Given the description of an element on the screen output the (x, y) to click on. 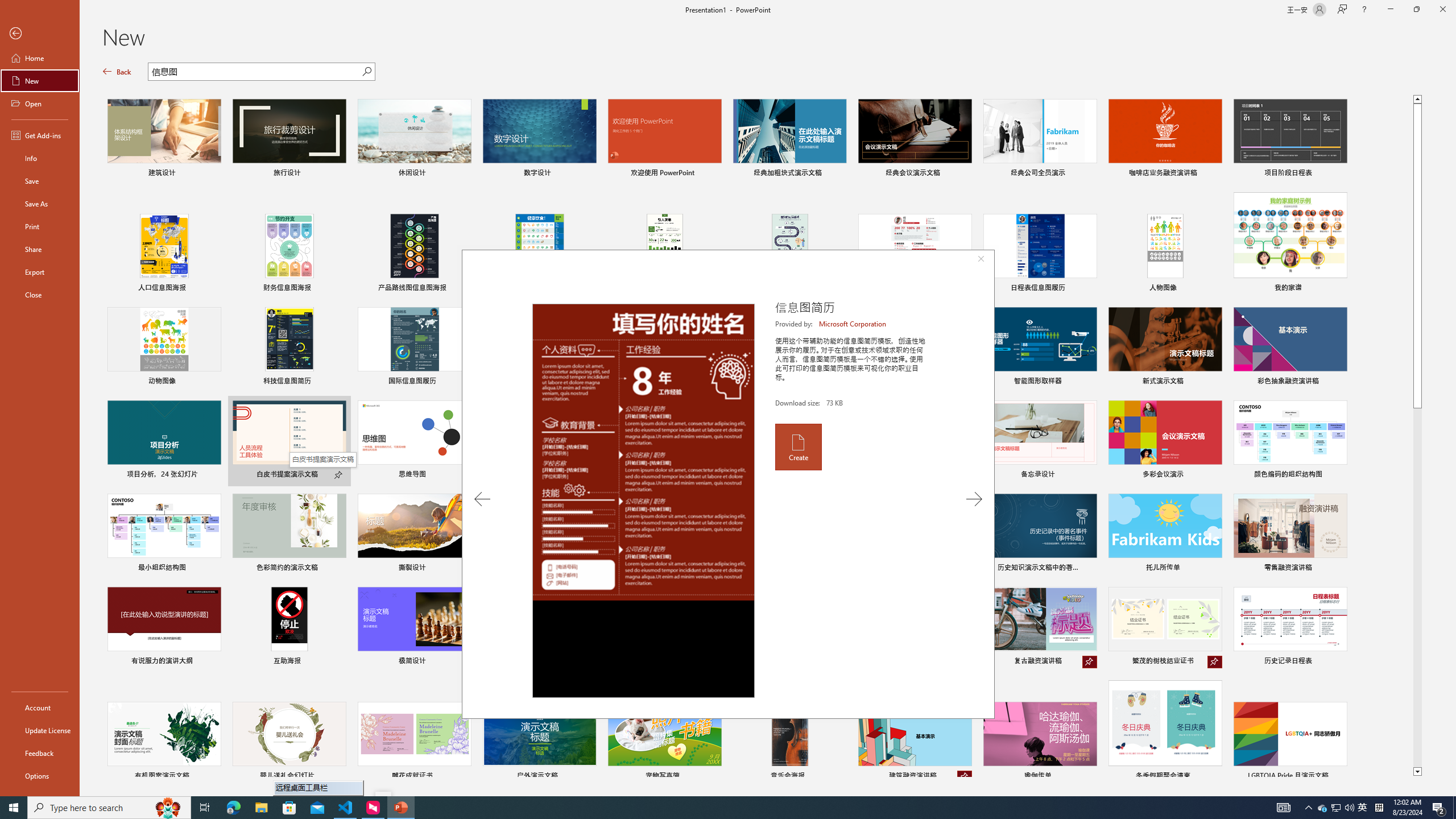
Class: NetUIScrollBar (1450, 428)
Get Add-ins (40, 134)
Start searching (366, 71)
